Given the description of an element on the screen output the (x, y) to click on. 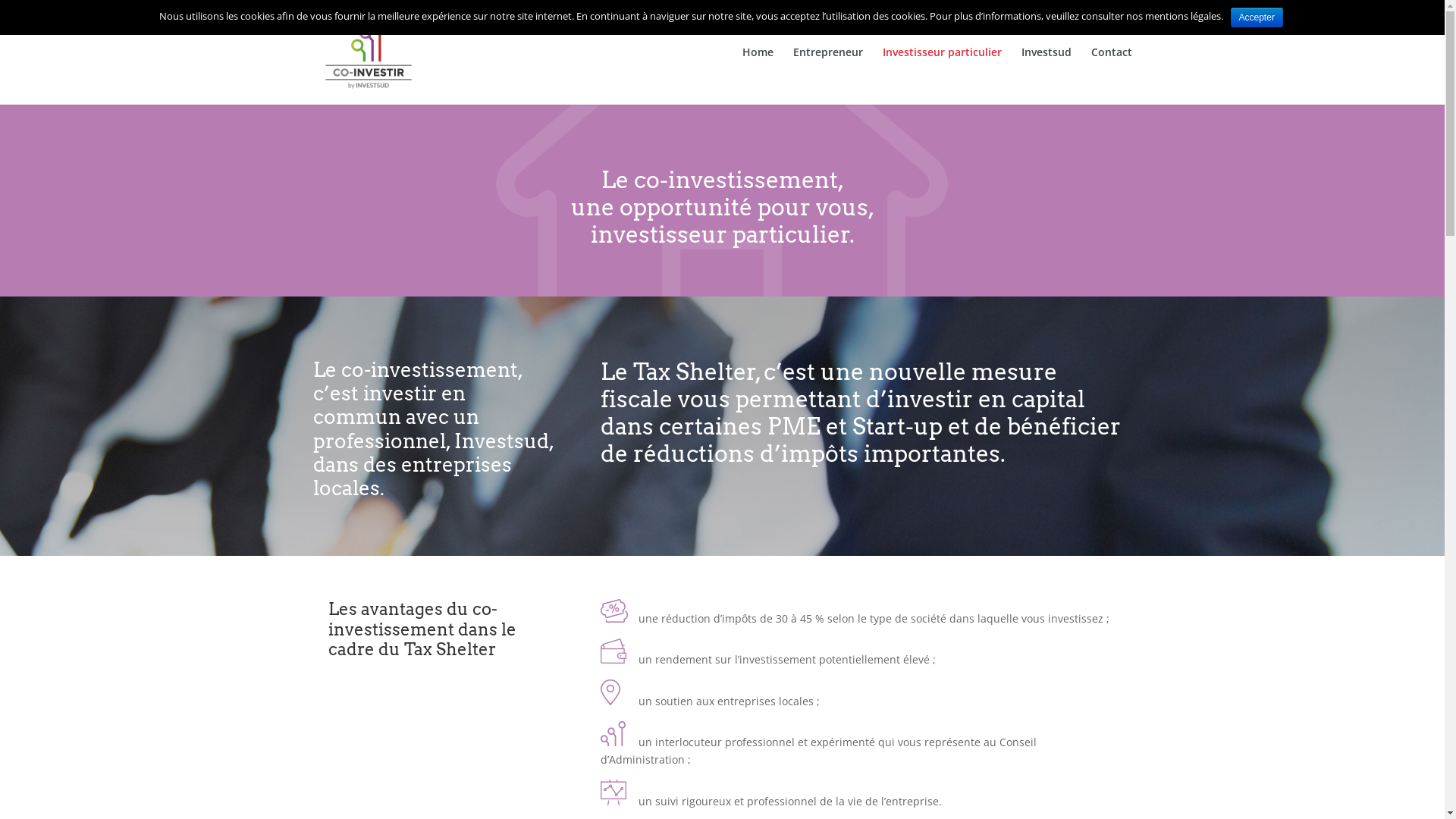
Investsud Element type: text (1045, 75)
Home Element type: text (756, 75)
Accepter Element type: text (1256, 17)
Entrepreneur Element type: text (827, 75)
Investisseur particulier Element type: text (941, 75)
Contact Element type: text (1110, 75)
